Given the description of an element on the screen output the (x, y) to click on. 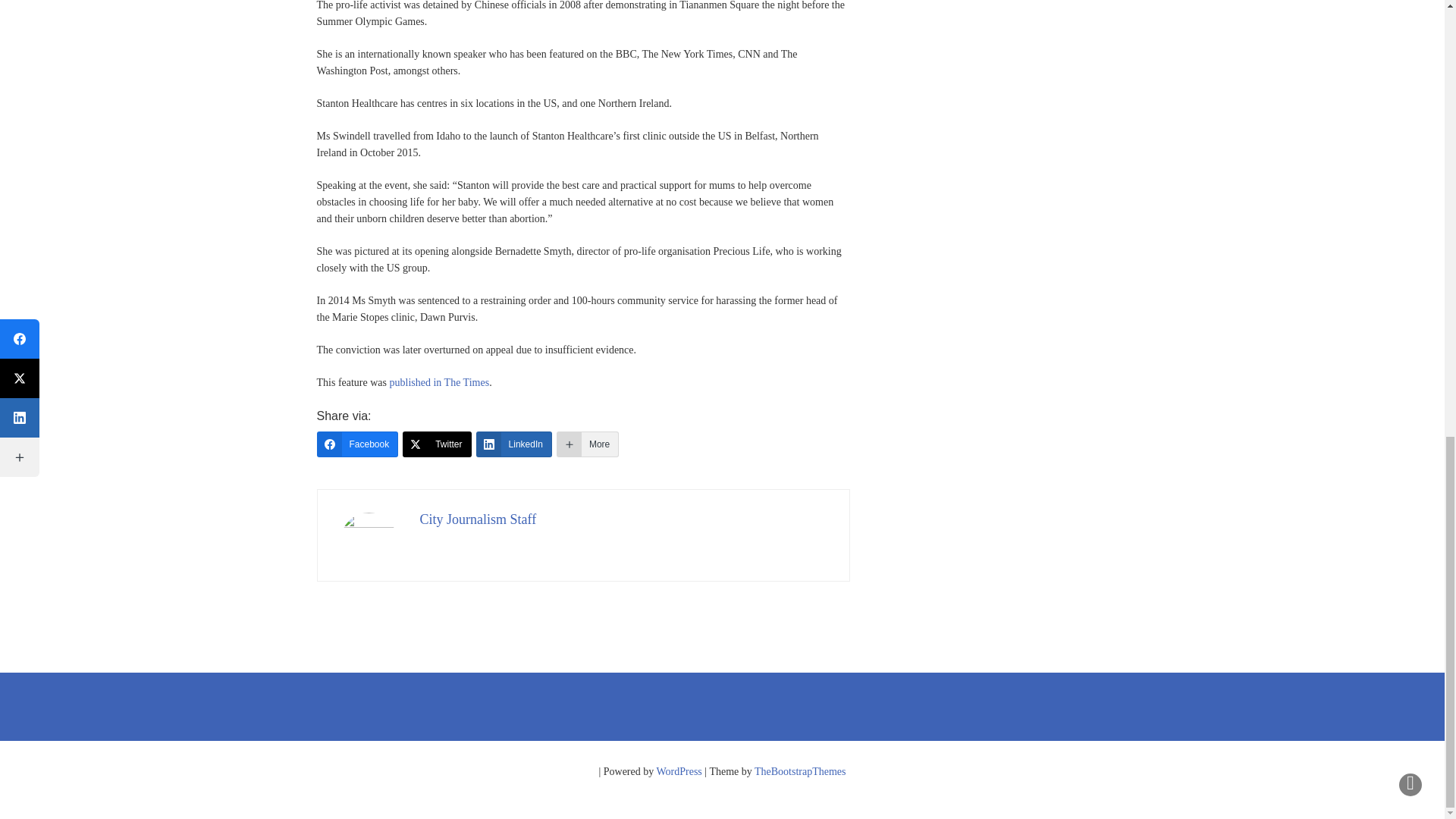
City Journalism Staff (478, 519)
published in The Times (439, 382)
LinkedIn (513, 444)
Facebook (357, 444)
More (587, 444)
Twitter (436, 444)
